Given the description of an element on the screen output the (x, y) to click on. 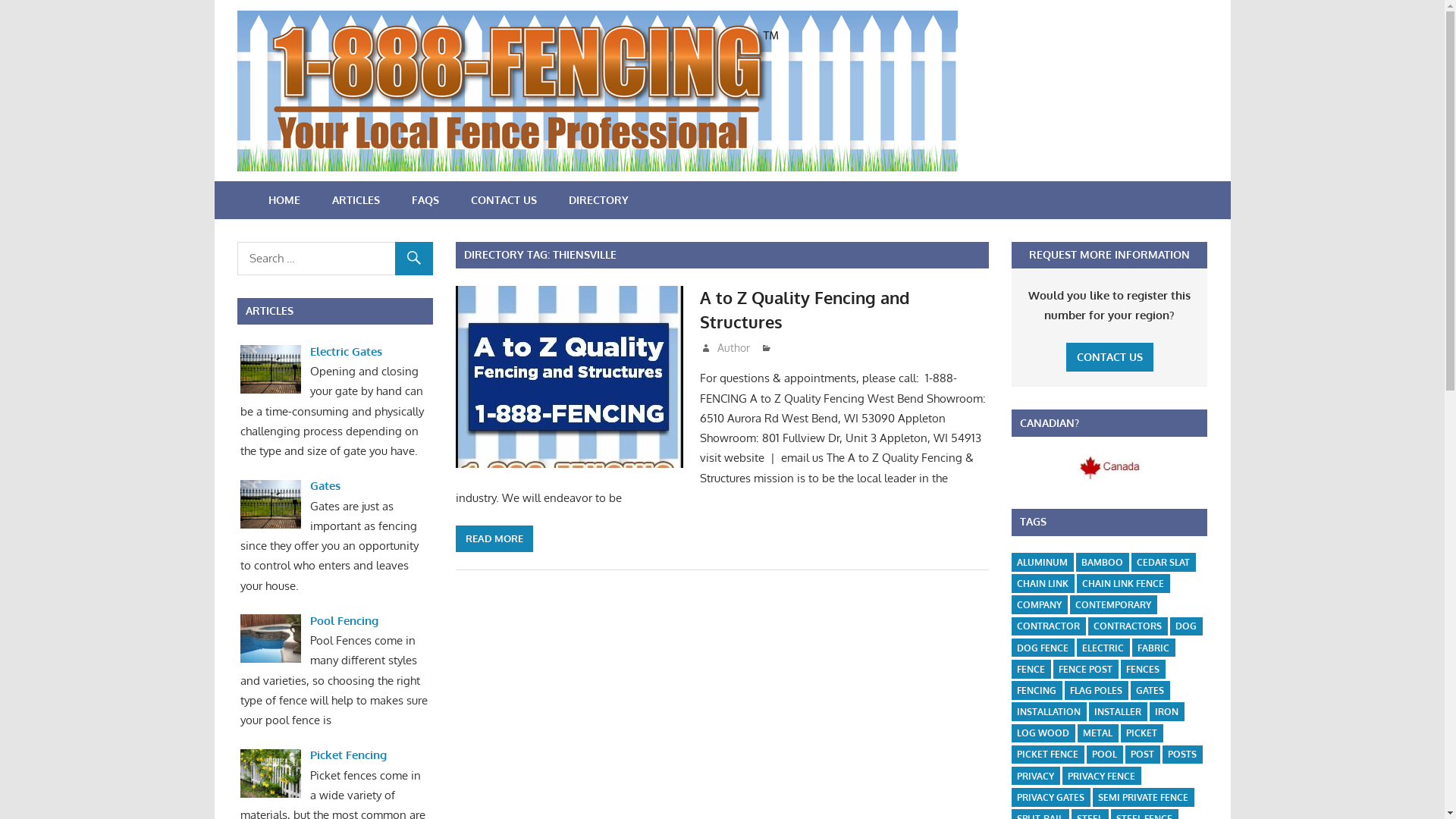
CONTACT US Element type: text (1109, 356)
POSTS Element type: text (1181, 754)
FABRIC Element type: text (1153, 647)
POST Element type: text (1142, 754)
FLAG POLES Element type: text (1095, 689)
IRON Element type: text (1166, 711)
Picket Fencing Element type: text (348, 754)
PRIVACY Element type: text (1035, 775)
METAL Element type: text (1097, 732)
Electric Gates Element type: text (346, 351)
FENCING Element type: text (1036, 689)
Pool Fencing Element type: text (344, 620)
FENCE Element type: text (1030, 668)
PICKET FENCE Element type: text (1047, 754)
INSTALLER Element type: text (1117, 711)
Author Element type: text (733, 347)
CONTEMPORARY Element type: text (1113, 604)
July 31, 2017 Element type: text (741, 347)
LOG WOOD Element type: text (1042, 732)
A to Z Quality Fencing and Structures Element type: text (804, 309)
ALUMINUM Element type: text (1042, 561)
DIRECTORY Element type: text (597, 200)
READ MORE Element type: text (494, 538)
CONTACT US Element type: text (503, 200)
BAMBOO Element type: text (1102, 561)
PRIVACY FENCE Element type: text (1101, 775)
ELECTRIC Element type: text (1102, 647)
Gates Element type: text (325, 485)
CHAIN LINK FENCE Element type: text (1122, 583)
CHAIN LINK Element type: text (1042, 583)
FENCE POST Element type: text (1085, 668)
GATES Element type: text (1149, 689)
COMPANY Element type: text (1038, 604)
CONTRACTOR Element type: text (1048, 626)
CONTACT US Element type: text (1109, 357)
PRIVACY GATES Element type: text (1050, 796)
POOL Element type: text (1104, 754)
ARTICLES Element type: text (355, 200)
PICKET Element type: text (1141, 732)
CEDAR SLAT Element type: text (1163, 561)
DOG Element type: text (1185, 626)
SEMI PRIVATE FENCE Element type: text (1142, 796)
Search for: Element type: hover (334, 258)
INSTALLATION Element type: text (1048, 711)
FENCES Element type: text (1142, 668)
DOG FENCE Element type: text (1042, 647)
FAQS Element type: text (425, 200)
CONTRACTORS Element type: text (1127, 626)
HOME Element type: text (283, 200)
